Given the description of an element on the screen output the (x, y) to click on. 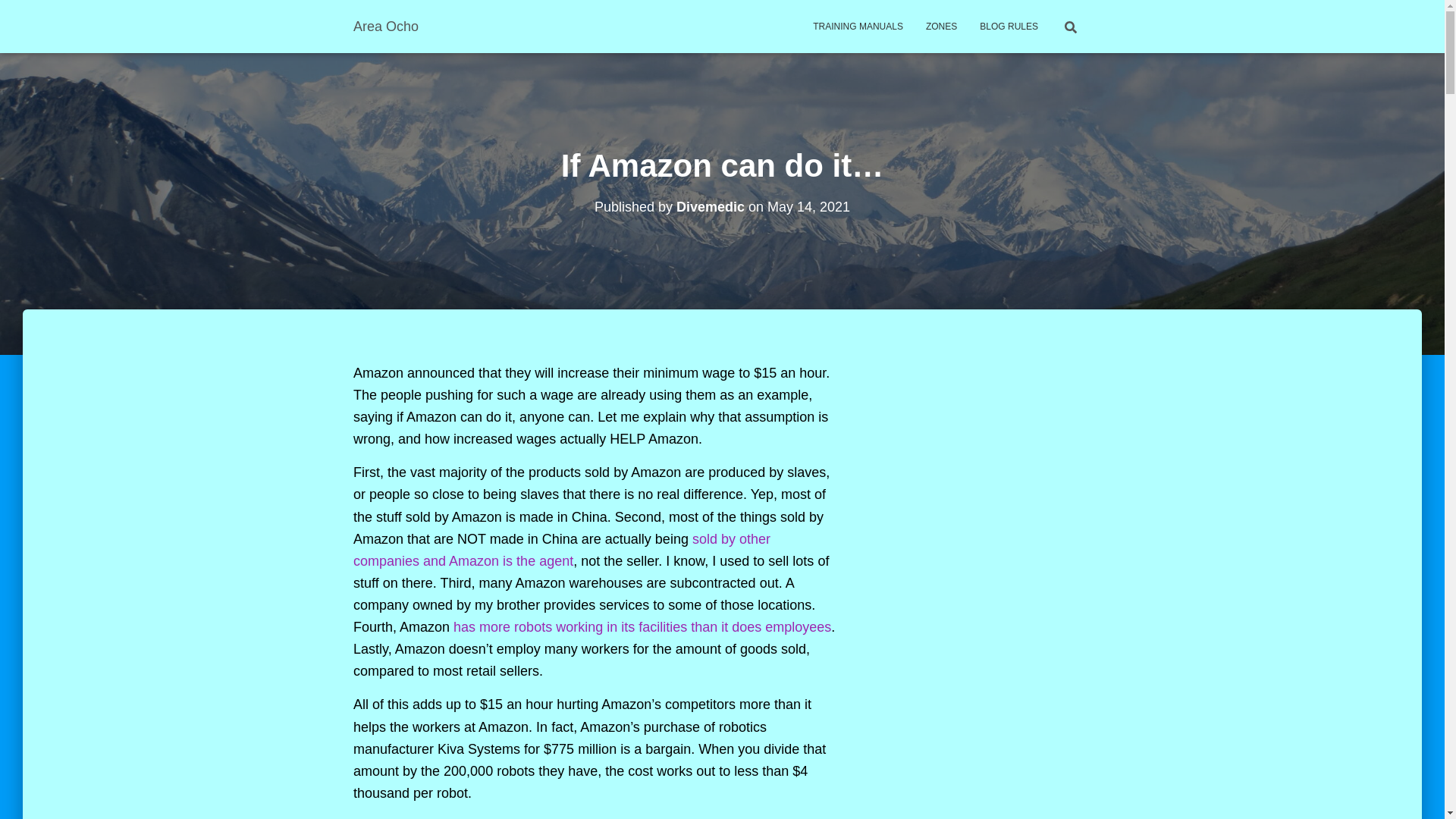
Divemedic (710, 206)
TRAINING MANUALS (858, 26)
Zones (941, 26)
sold by other companies and Amazon is the agent (561, 549)
Blog Rules (1008, 26)
BLOG RULES (1008, 26)
Training Manuals (858, 26)
ZONES (941, 26)
Area Ocho (385, 26)
